Given the description of an element on the screen output the (x, y) to click on. 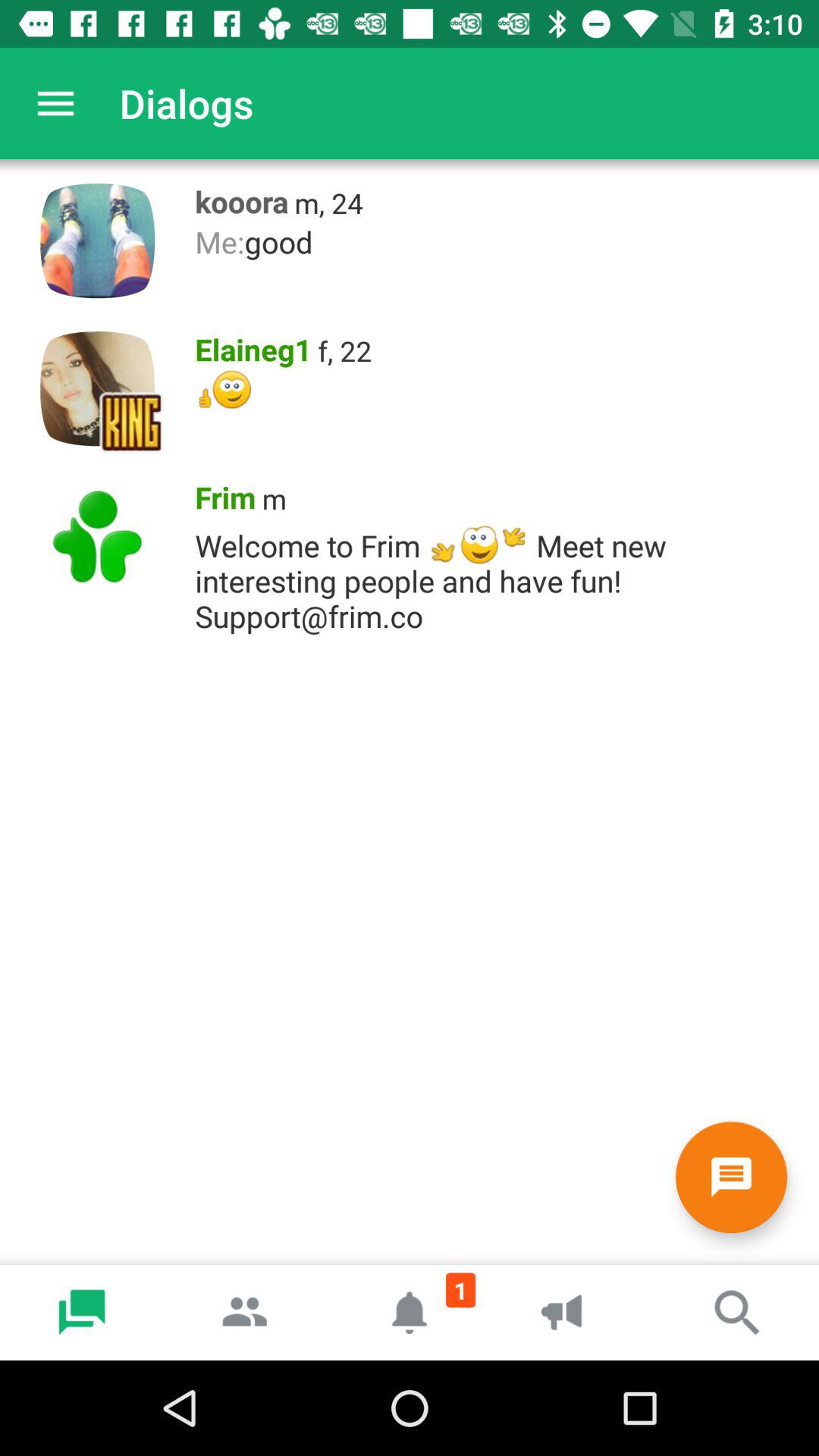
open icon above the *t* (248, 346)
